Given the description of an element on the screen output the (x, y) to click on. 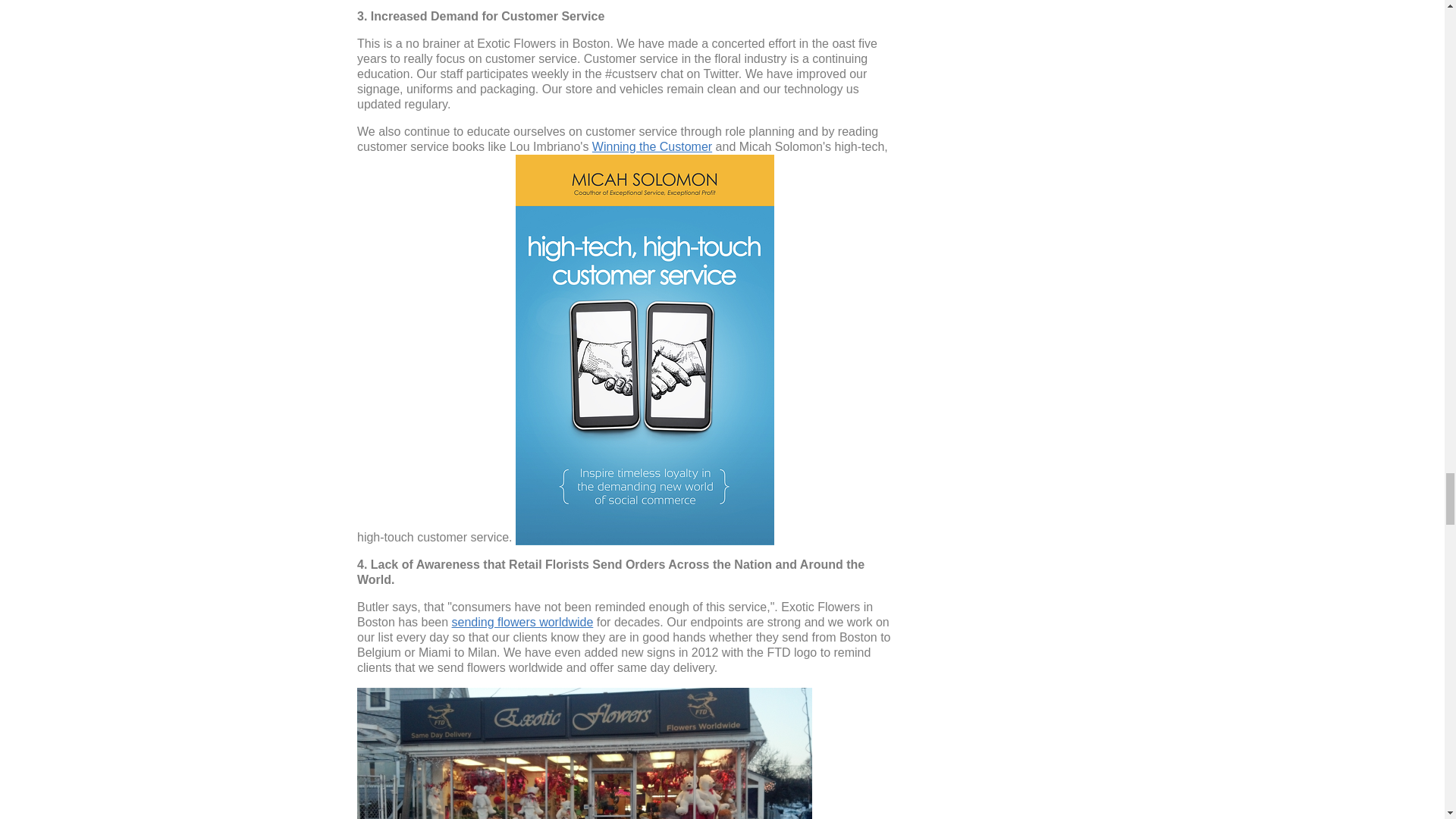
Winning the Customer (651, 146)
sending flowers worldwide (522, 621)
